Given the description of an element on the screen output the (x, y) to click on. 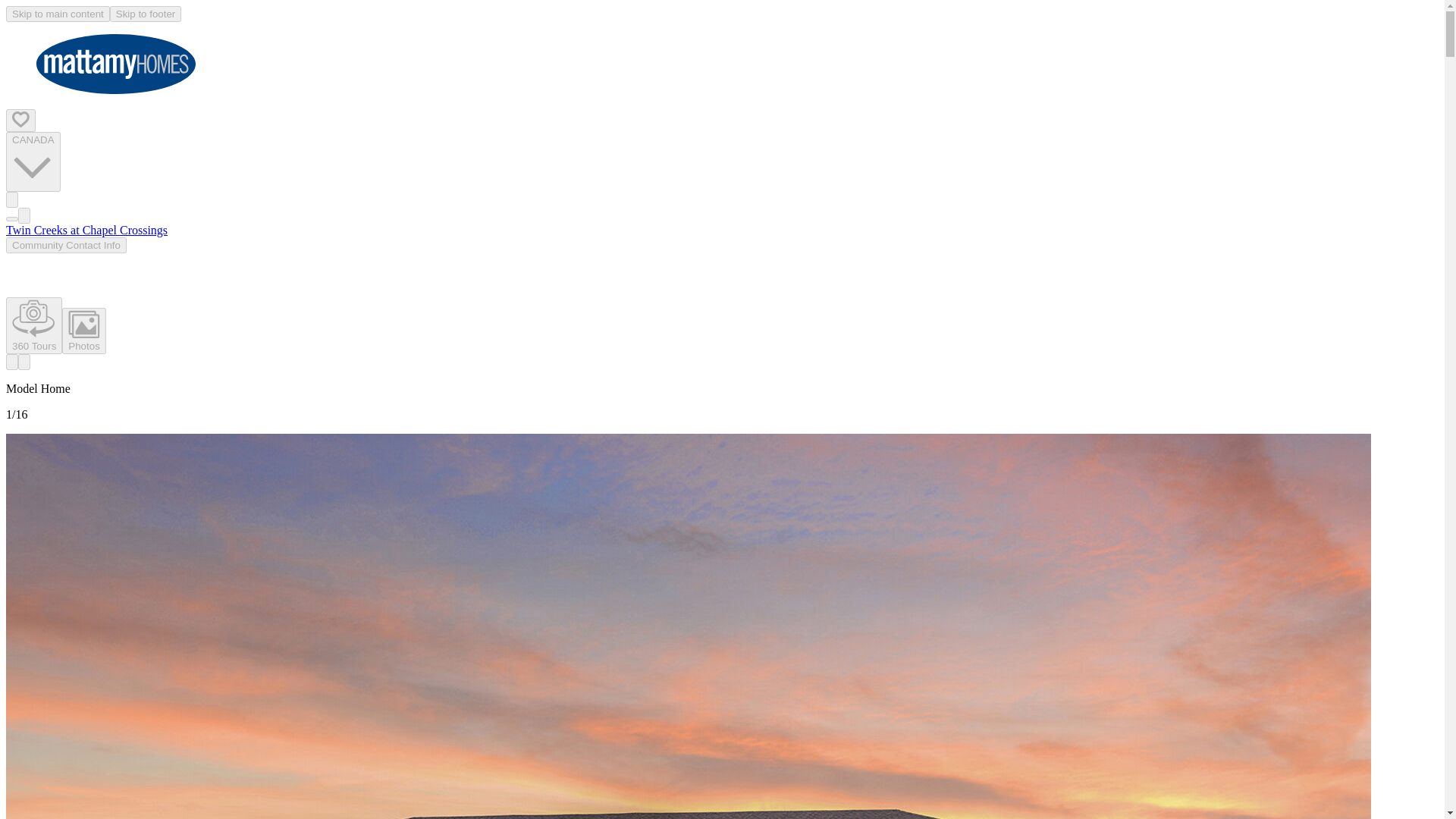
Twin Creeks at Chapel Crossings (86, 229)
CANADA (33, 161)
Skip to footer (146, 13)
Photos (84, 330)
360 Tours (33, 325)
Favorite Icon (19, 119)
Community Contact Info (65, 245)
Favorite Icon (20, 119)
Skip to main content (57, 13)
